Given the description of an element on the screen output the (x, y) to click on. 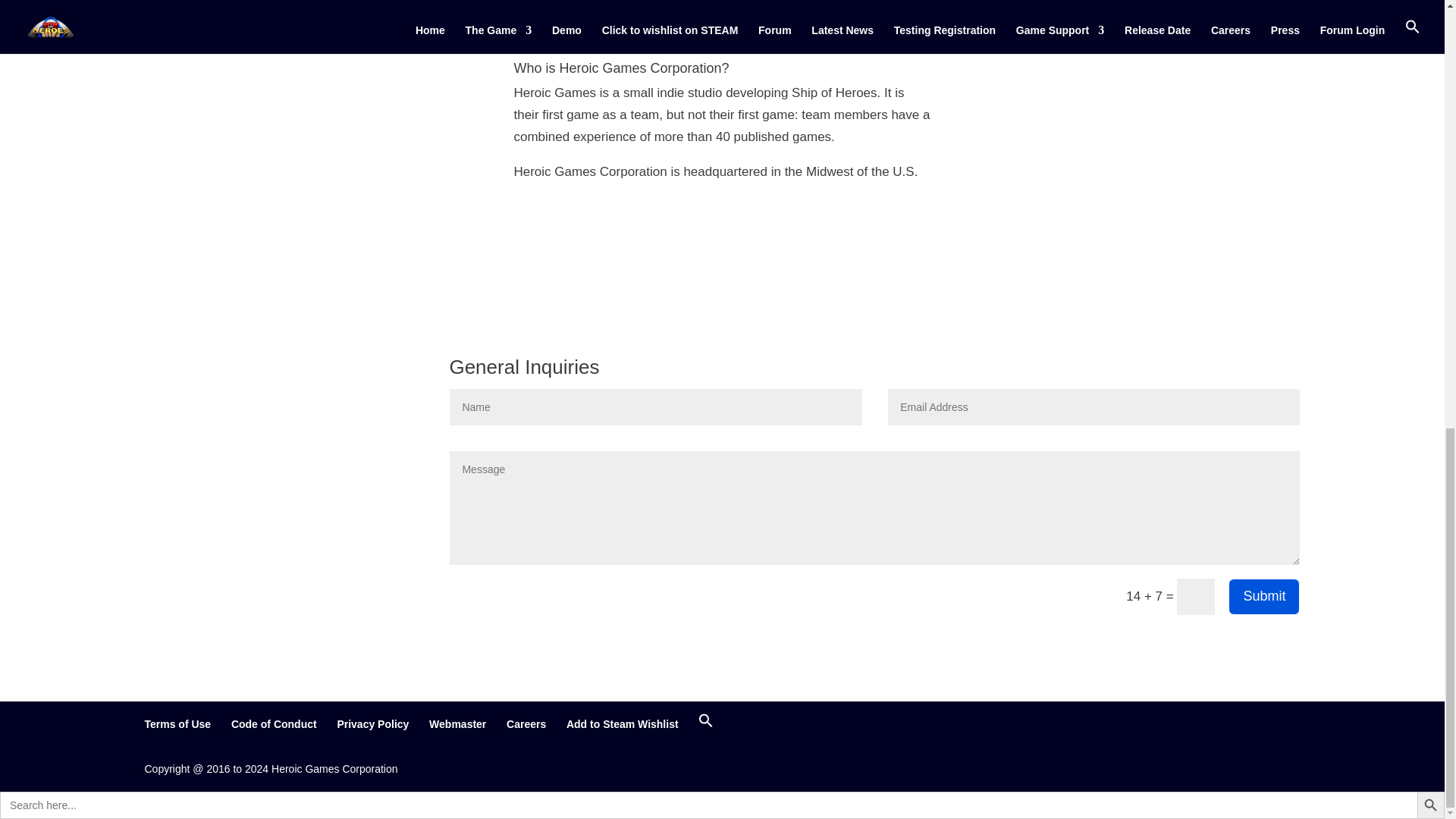
Add to Steam Wishlist (622, 724)
Privacy Policy (372, 724)
Submit (1264, 596)
Webmaster (457, 724)
Code of Conduct (274, 724)
Careers (526, 724)
Terms of Use (177, 724)
